Given the description of an element on the screen output the (x, y) to click on. 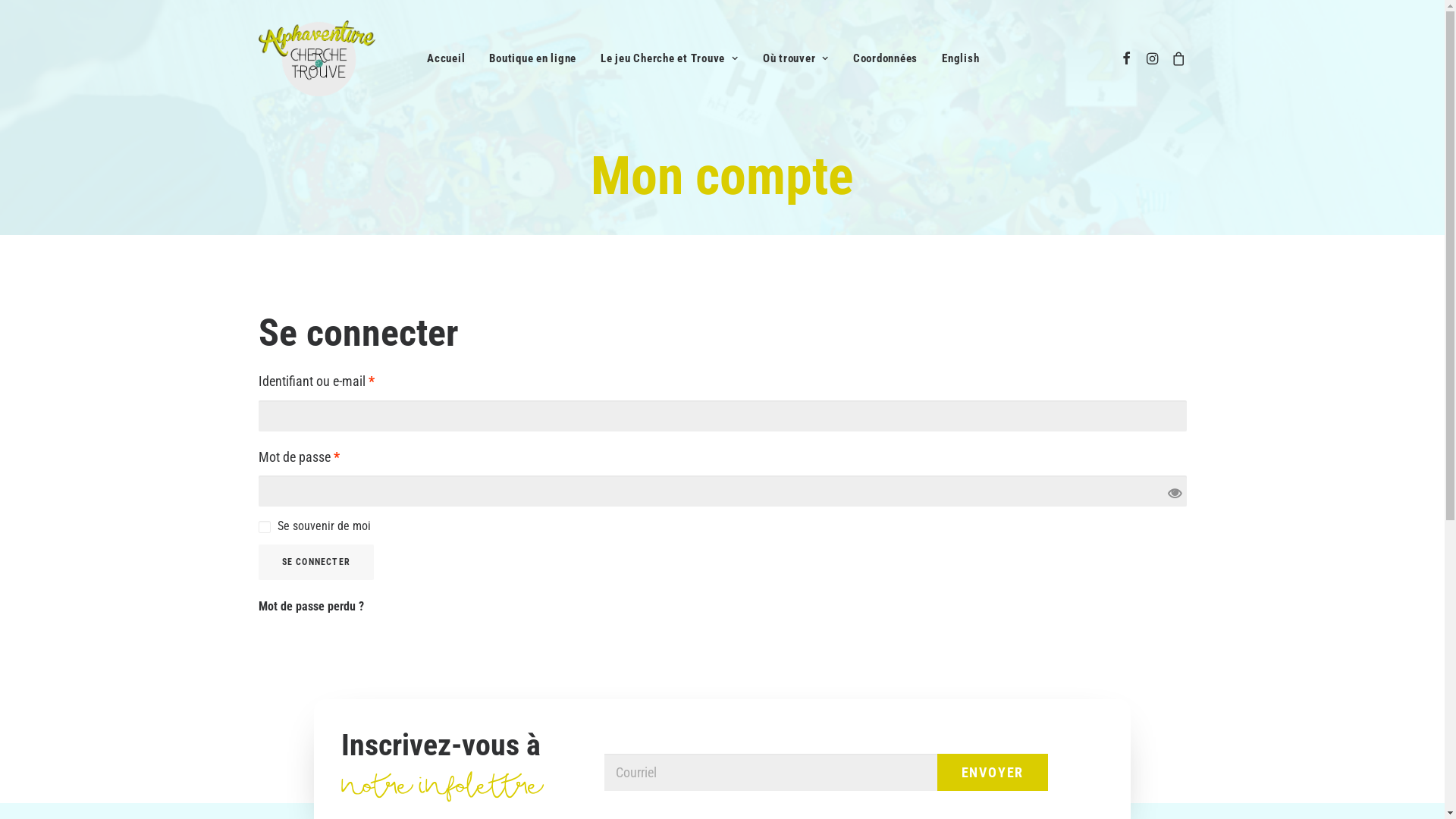
Boutique en ligne Element type: text (532, 58)
SE CONNECTER Element type: text (315, 562)
Envoyer Element type: text (992, 771)
Le jeu Cherche et Trouve Element type: text (669, 58)
cart Element type: hover (1175, 58)
English Element type: text (955, 58)
Accueil Element type: text (445, 58)
Mot de passe perdu ? Element type: text (310, 606)
